Given the description of an element on the screen output the (x, y) to click on. 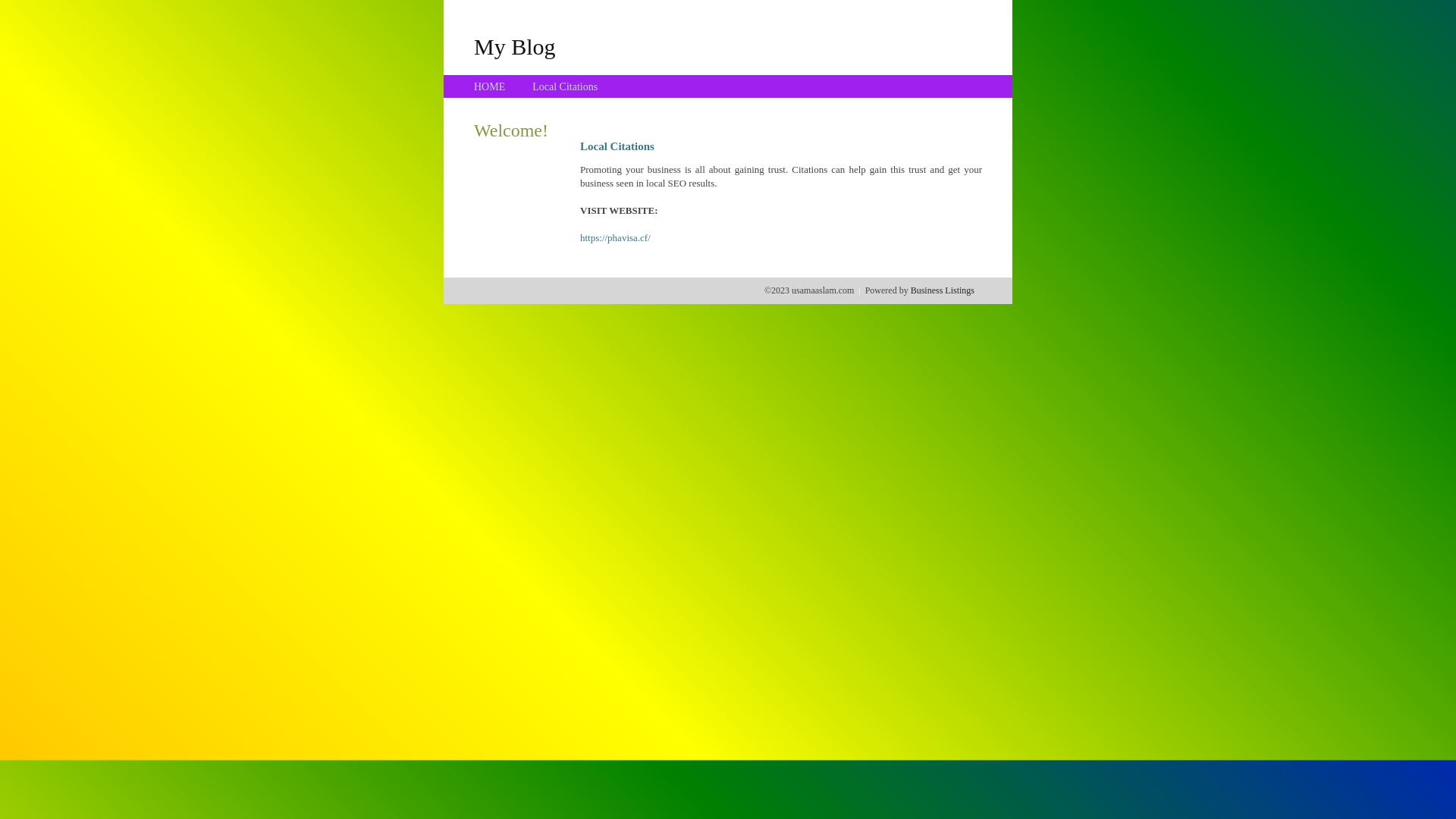
HOME Element type: text (489, 86)
Business Listings Element type: text (942, 290)
https://phavisa.cf/ Element type: text (615, 237)
Local Citations Element type: text (564, 86)
My Blog Element type: text (514, 46)
